Given the description of an element on the screen output the (x, y) to click on. 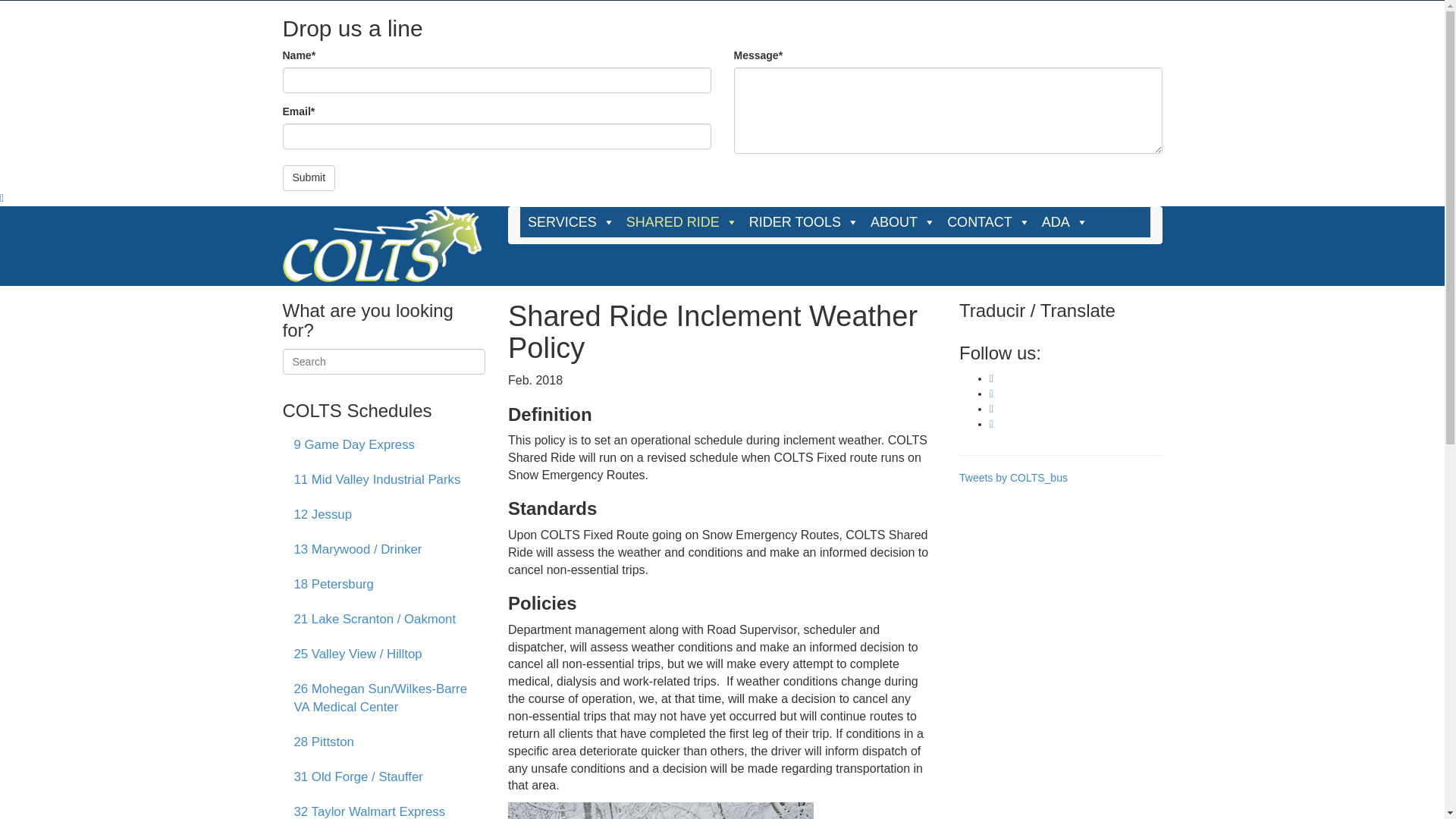
RIDER TOOLS (802, 222)
SHARED RIDE (679, 222)
Submit (308, 177)
SERVICES (568, 222)
Submit (308, 177)
